Given the description of an element on the screen output the (x, y) to click on. 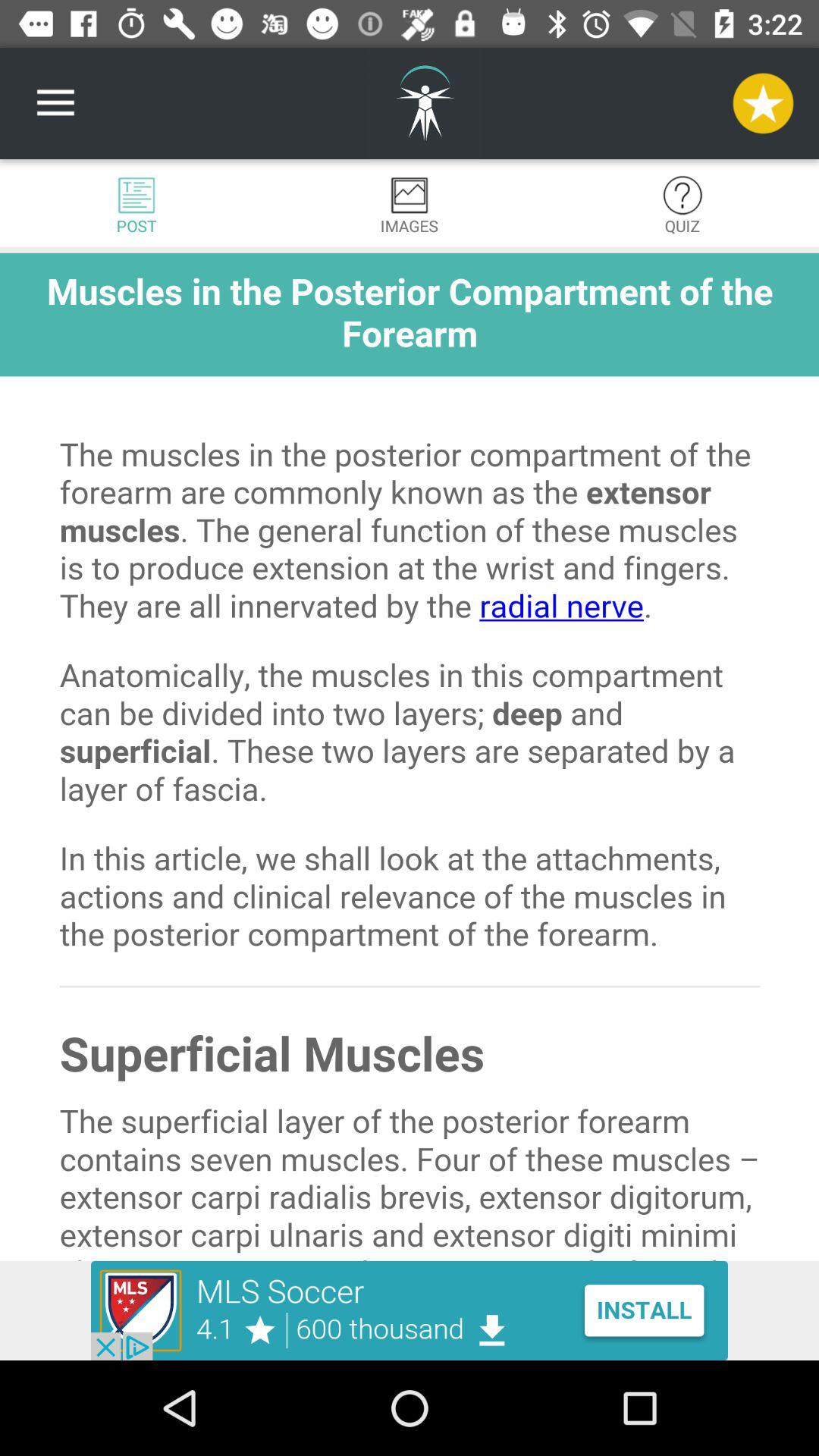
read the article (409, 756)
